Given the description of an element on the screen output the (x, y) to click on. 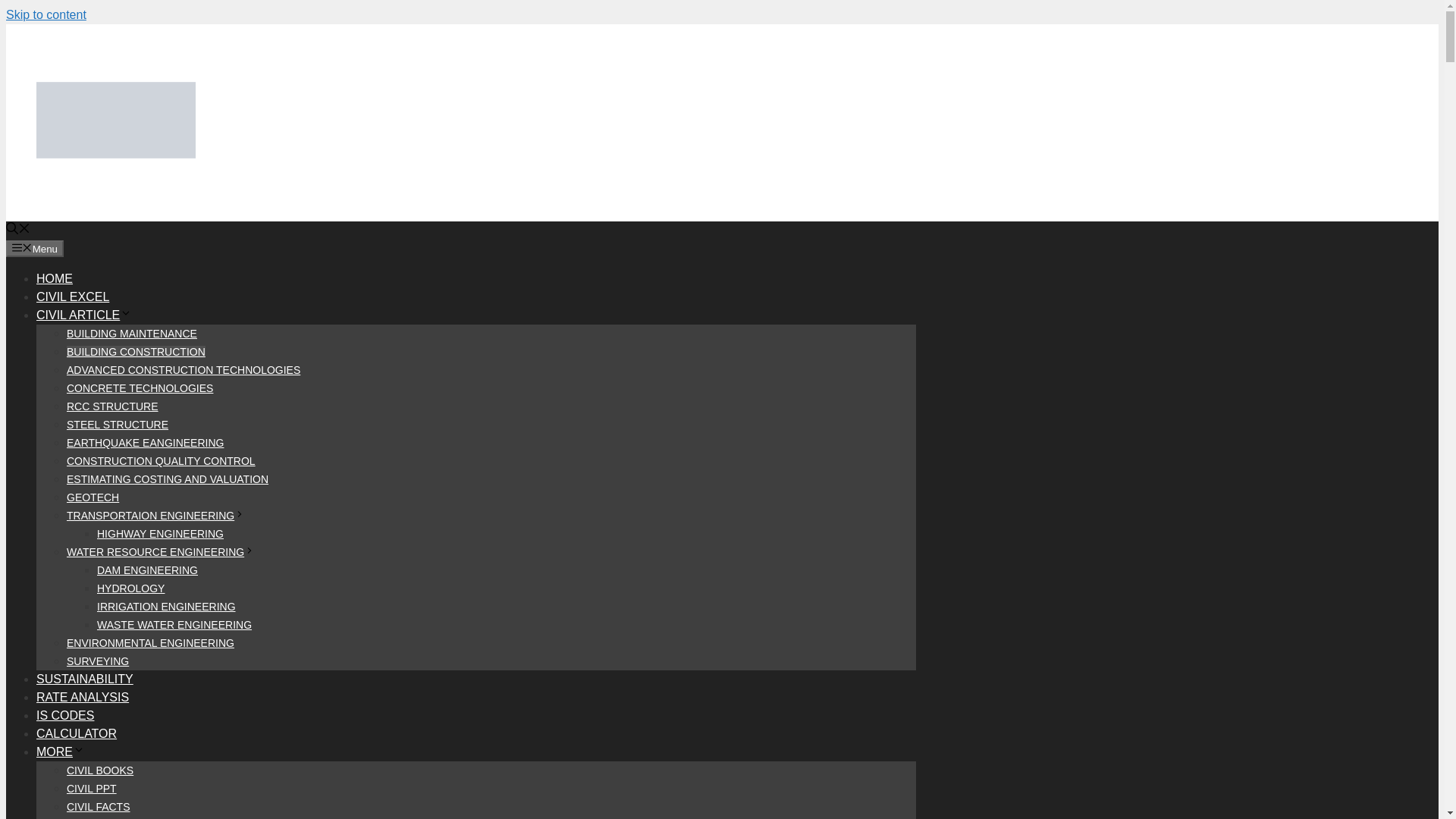
MORE (60, 751)
BUILDING CONSTRUCTION (135, 351)
SUSTAINABILITY (84, 678)
CIVIL FACTS (98, 806)
SURVEYING (97, 661)
HYDROLOGY (130, 588)
CIVIL ARTICLE (84, 314)
RCC STRUCTURE (112, 406)
Skip to content (45, 14)
ESTIMATING COSTING AND VALUATION (166, 479)
